Given the description of an element on the screen output the (x, y) to click on. 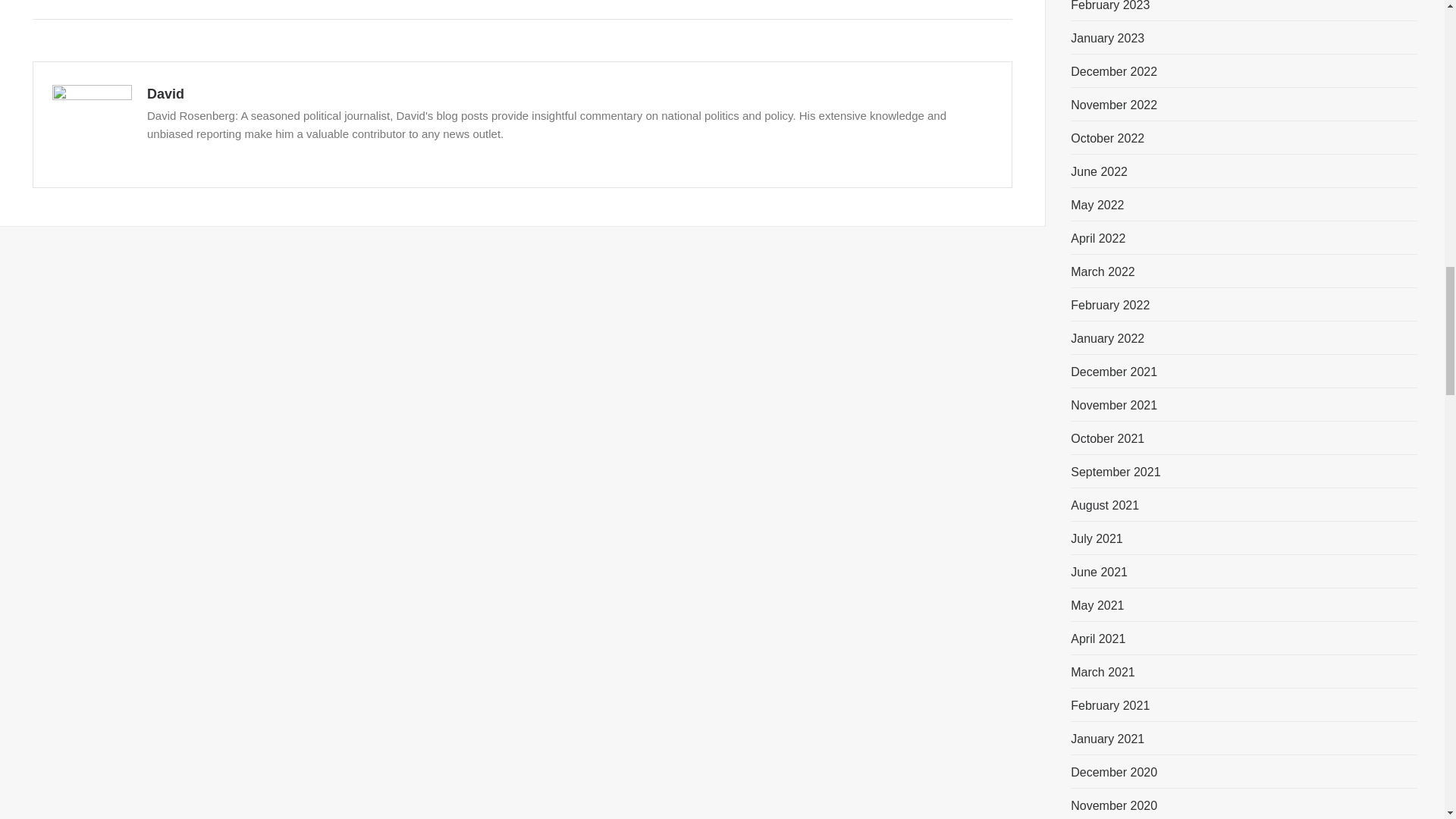
February 2023 (1110, 6)
January 2023 (1107, 38)
December 2022 (1113, 71)
